Given the description of an element on the screen output the (x, y) to click on. 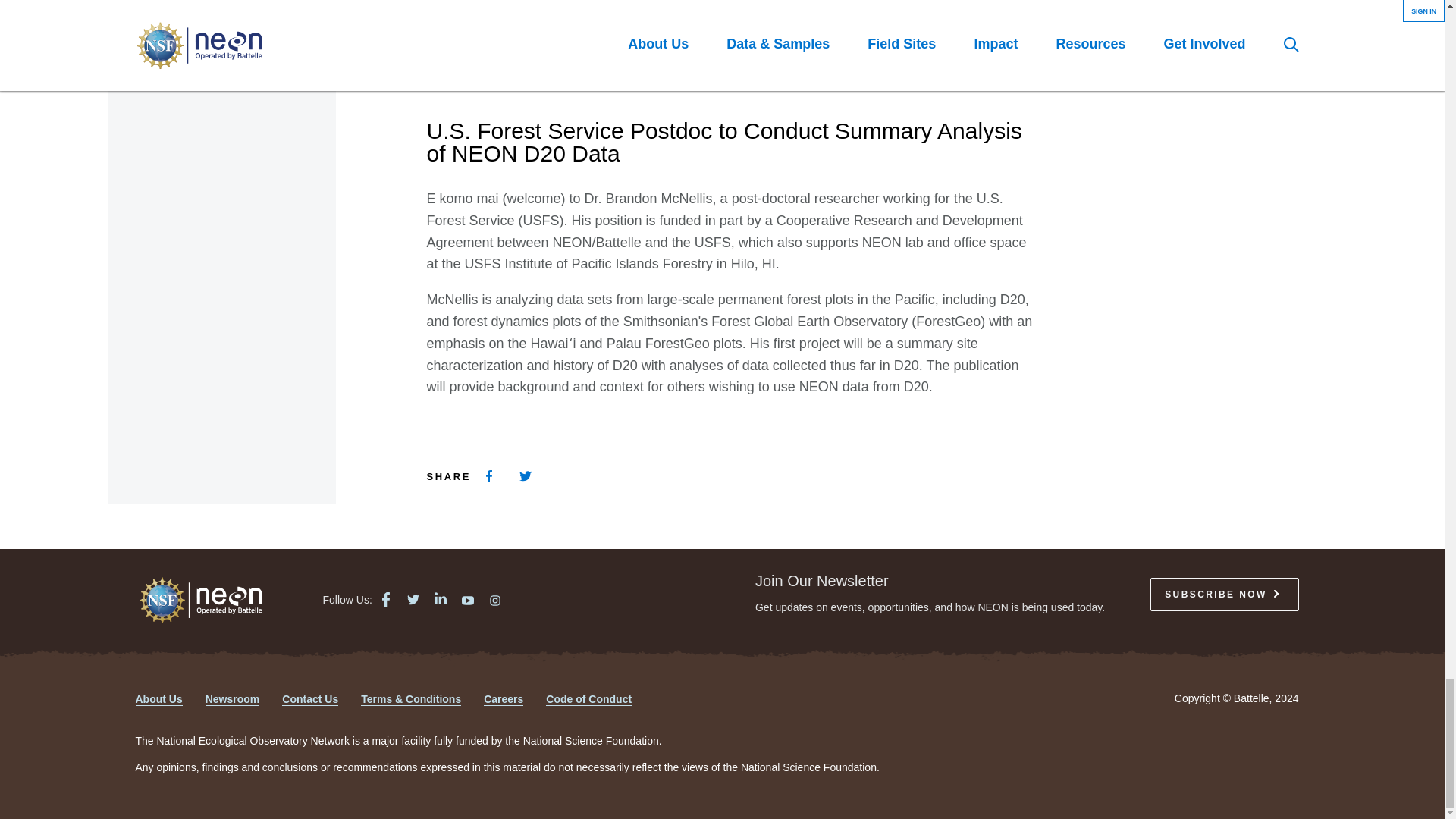
Contact Us (309, 698)
About Us (158, 698)
